Given the description of an element on the screen output the (x, y) to click on. 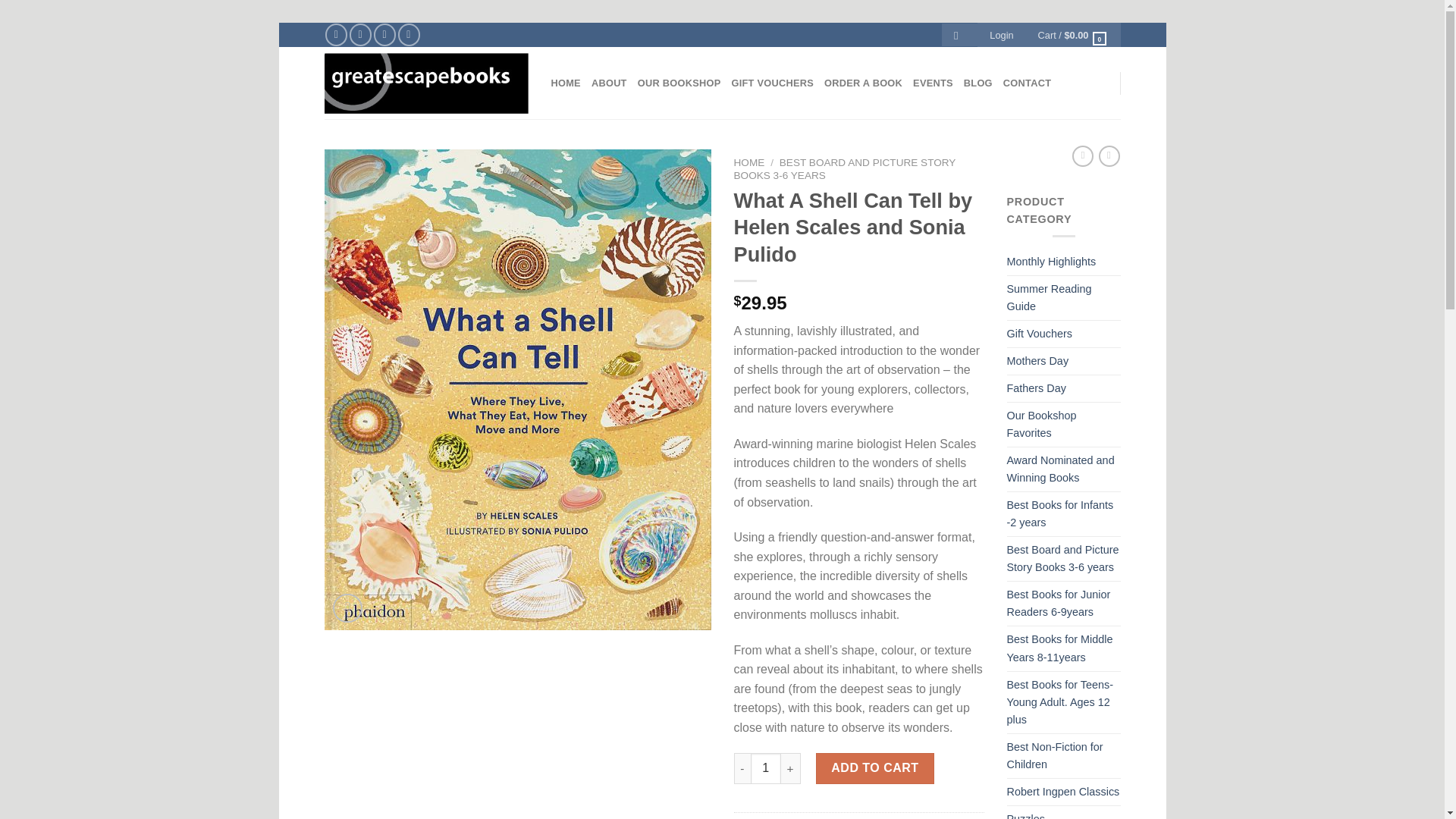
Send us an email (385, 34)
ABOUT (609, 83)
Follow on Instagram (360, 34)
HOME (564, 83)
GIFT VOUCHERS (771, 83)
OUR BOOKSHOP (678, 83)
1 (765, 767)
Follow on Facebook (335, 34)
Great Escape Books - Great Ocean Road, Aireys Inlet (426, 83)
Call us (408, 34)
Zoom (347, 608)
HOME (749, 162)
